Given the description of an element on the screen output the (x, y) to click on. 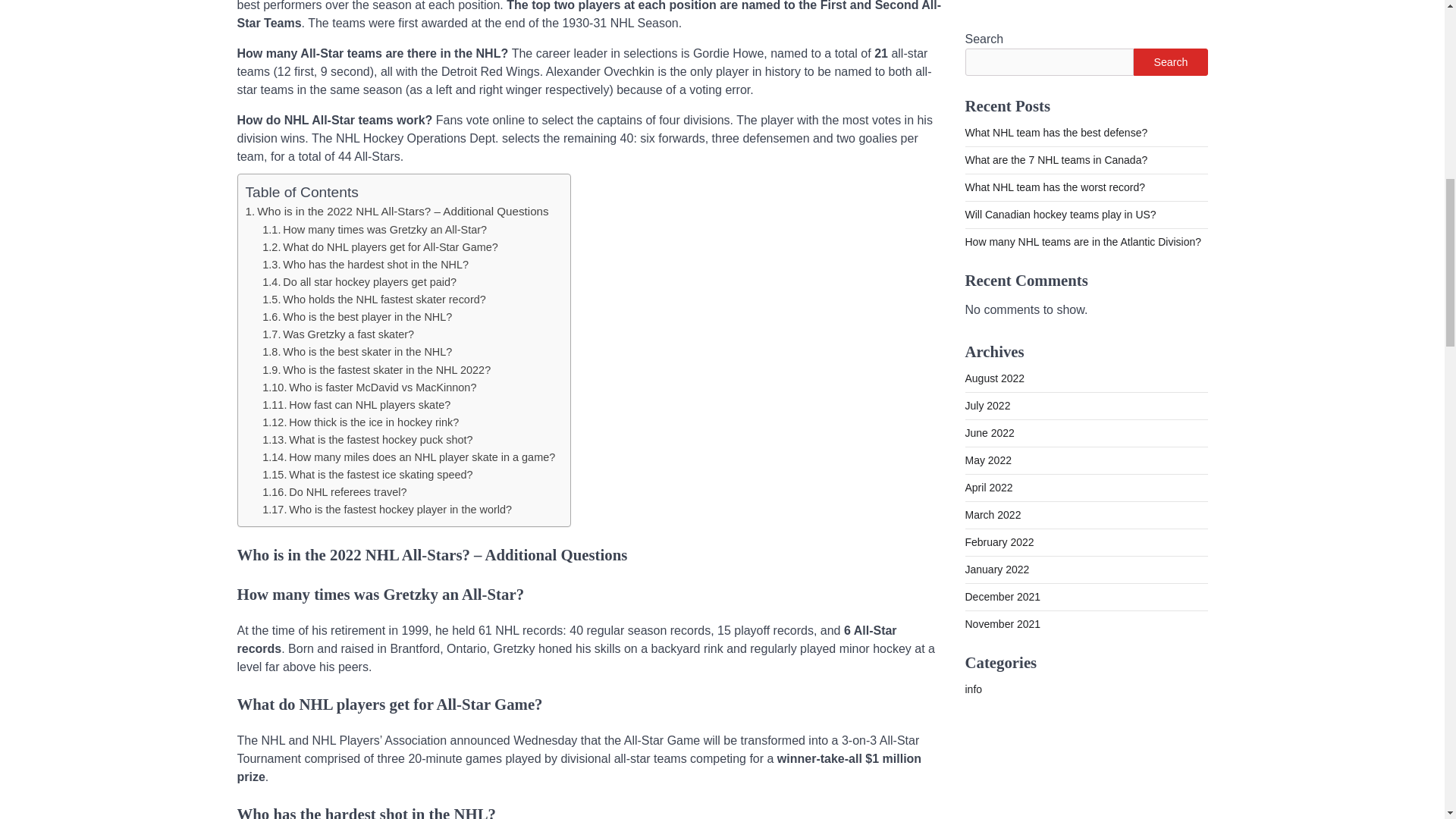
How fast can NHL players skate? (355, 404)
Who is the fastest hockey player in the world? (387, 509)
What is the fastest hockey puck shot? (366, 439)
Who is the best player in the NHL? (356, 316)
What do NHL players get for All-Star Game? (379, 246)
How many times was Gretzky an All-Star? (374, 229)
Who is faster McDavid vs MacKinnon? (369, 387)
Who is the best skater in the NHL? (356, 351)
Who is the fastest skater in the NHL 2022? (376, 369)
Who has the hardest shot in the NHL? (365, 264)
How fast can NHL players skate? (355, 404)
Who is the best skater in the NHL? (356, 351)
Who has the hardest shot in the NHL? (365, 264)
What do NHL players get for All-Star Game? (379, 246)
How thick is the ice in hockey rink? (360, 422)
